Given the description of an element on the screen output the (x, y) to click on. 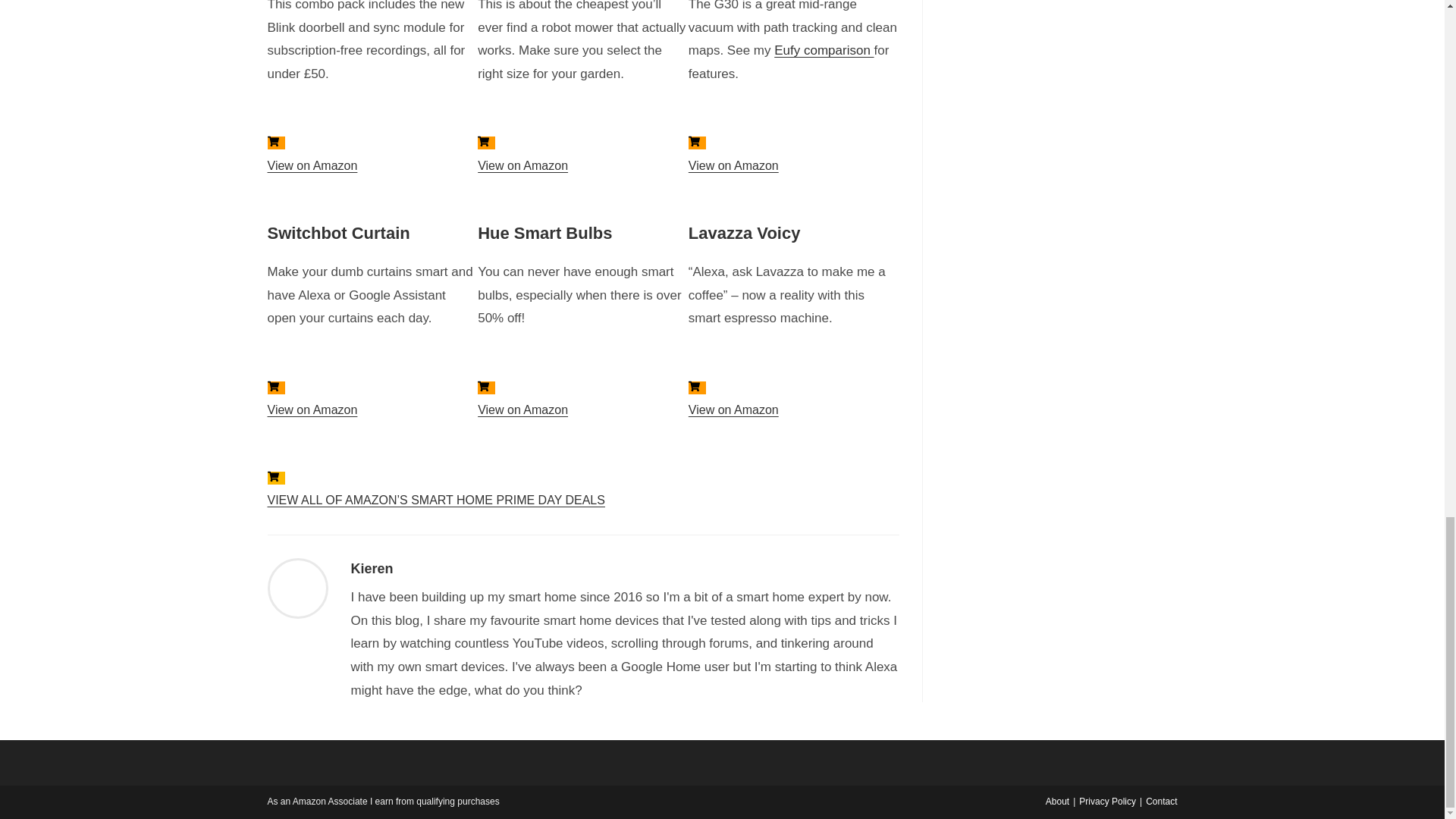
Visit author page (296, 587)
Visit author page (371, 568)
